Given the description of an element on the screen output the (x, y) to click on. 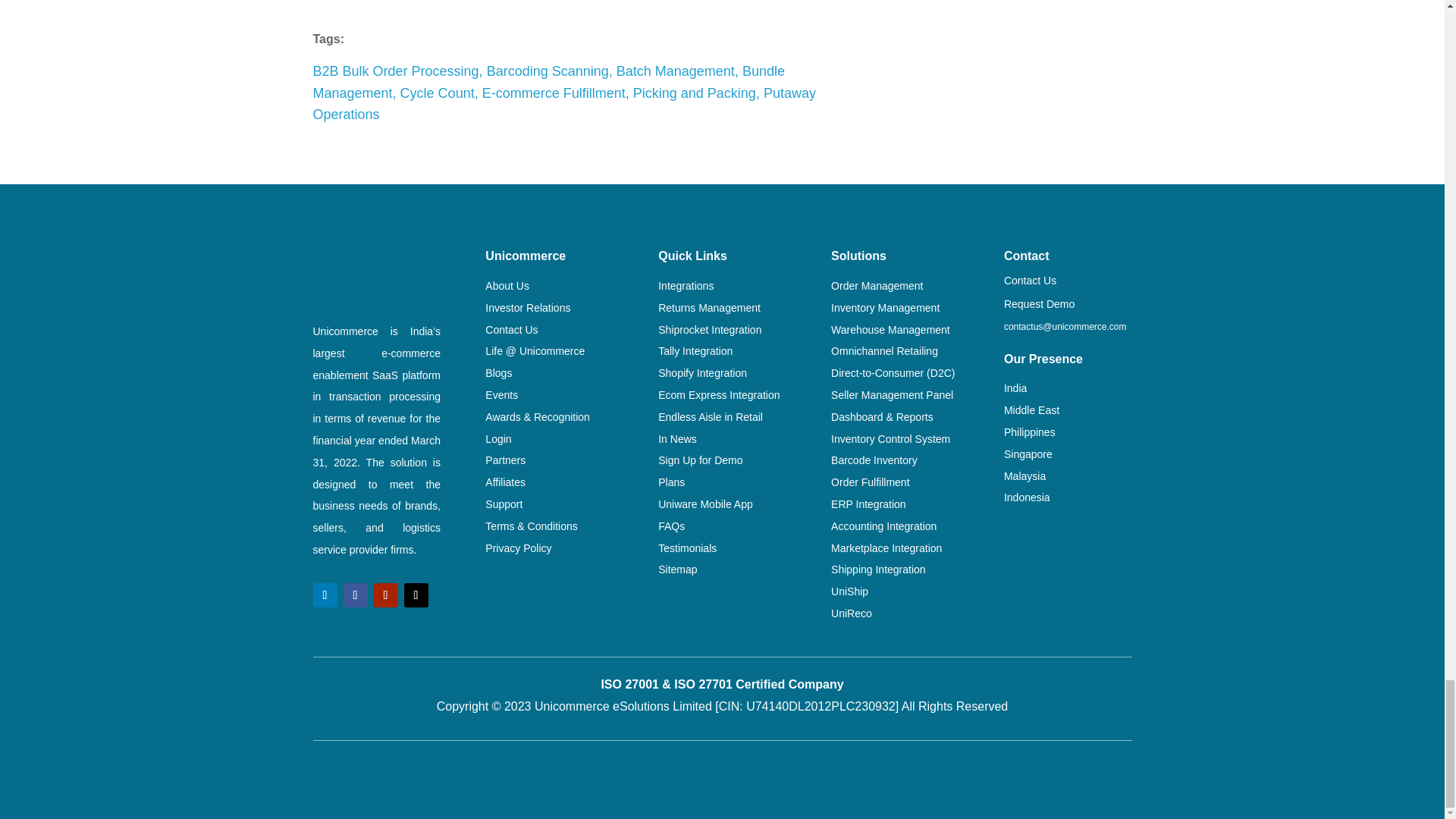
Follow on Youtube (384, 595)
Follow on Facebook (354, 595)
Follow on Twitter (415, 595)
Follow on LinkedIn (324, 595)
